Given the description of an element on the screen output the (x, y) to click on. 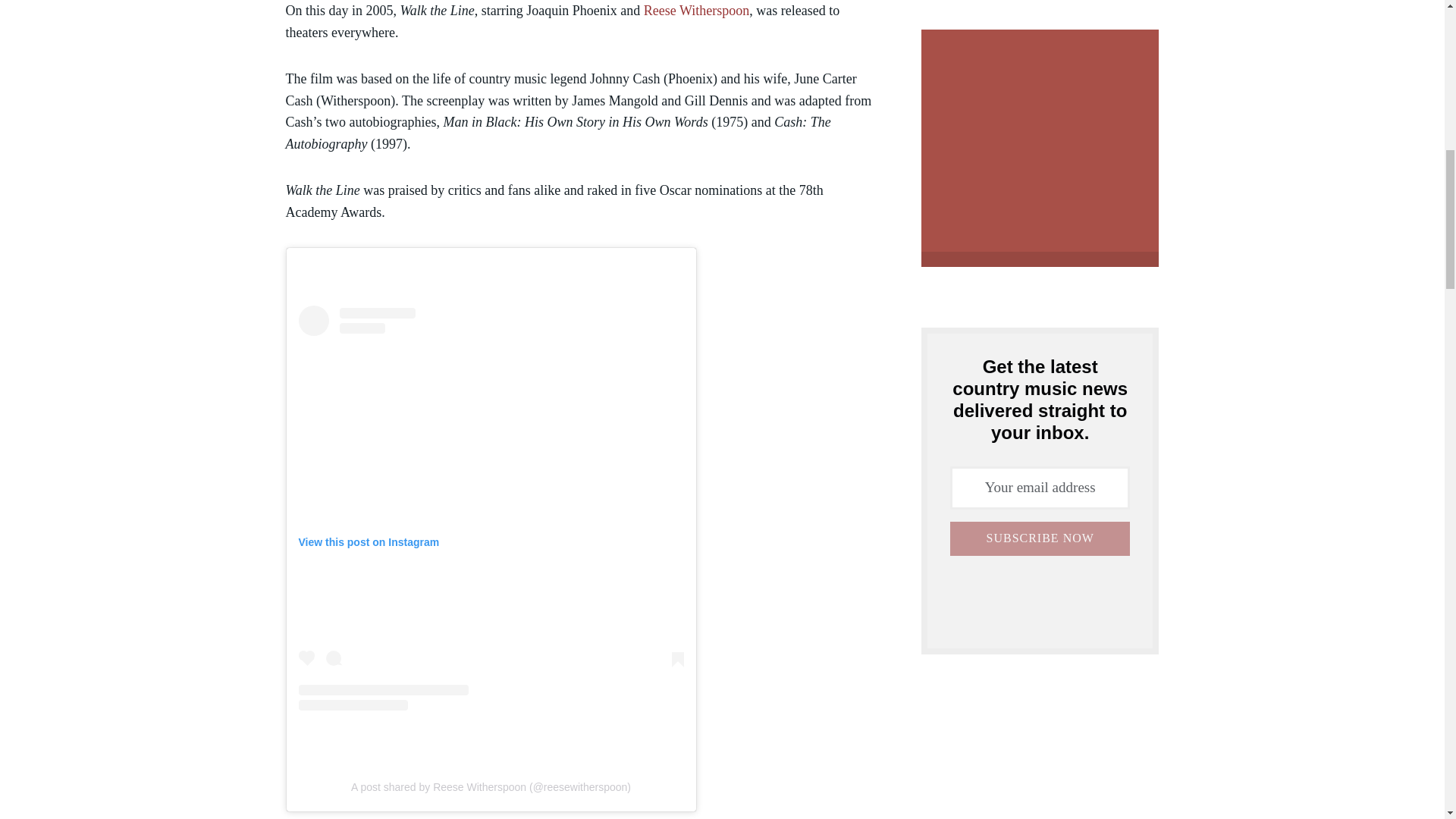
Reese Witherspoon (696, 10)
